Given the description of an element on the screen output the (x, y) to click on. 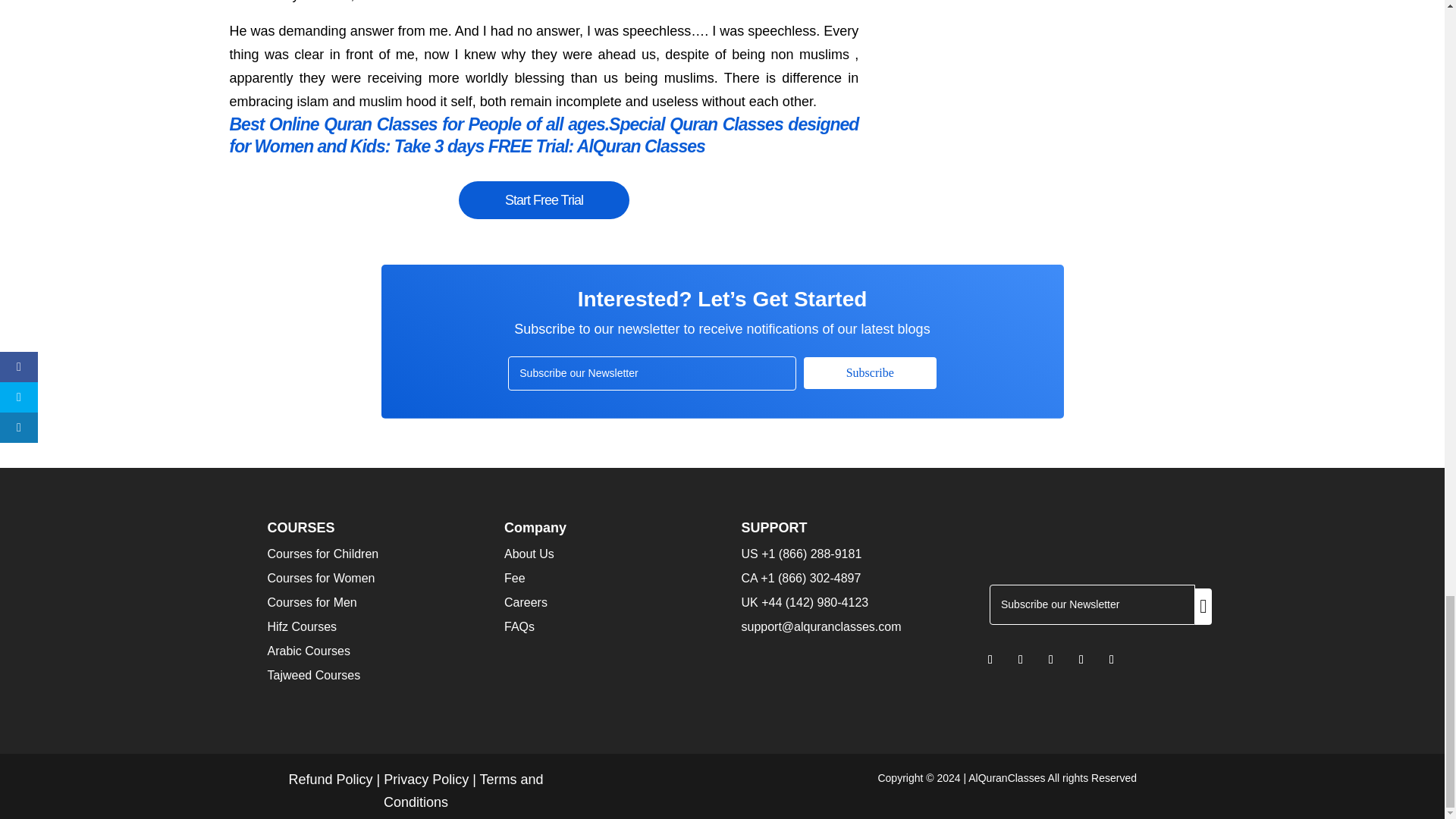
Tajweed Courses (312, 675)
Follow on Facebook (990, 659)
Subscribe (869, 373)
Fee (514, 577)
Follow on LinkedIn (1050, 659)
Follow on X (1020, 659)
Arabic Courses (307, 650)
Hifz Courses (301, 626)
Follow on Instagram (1080, 659)
